Given the description of an element on the screen output the (x, y) to click on. 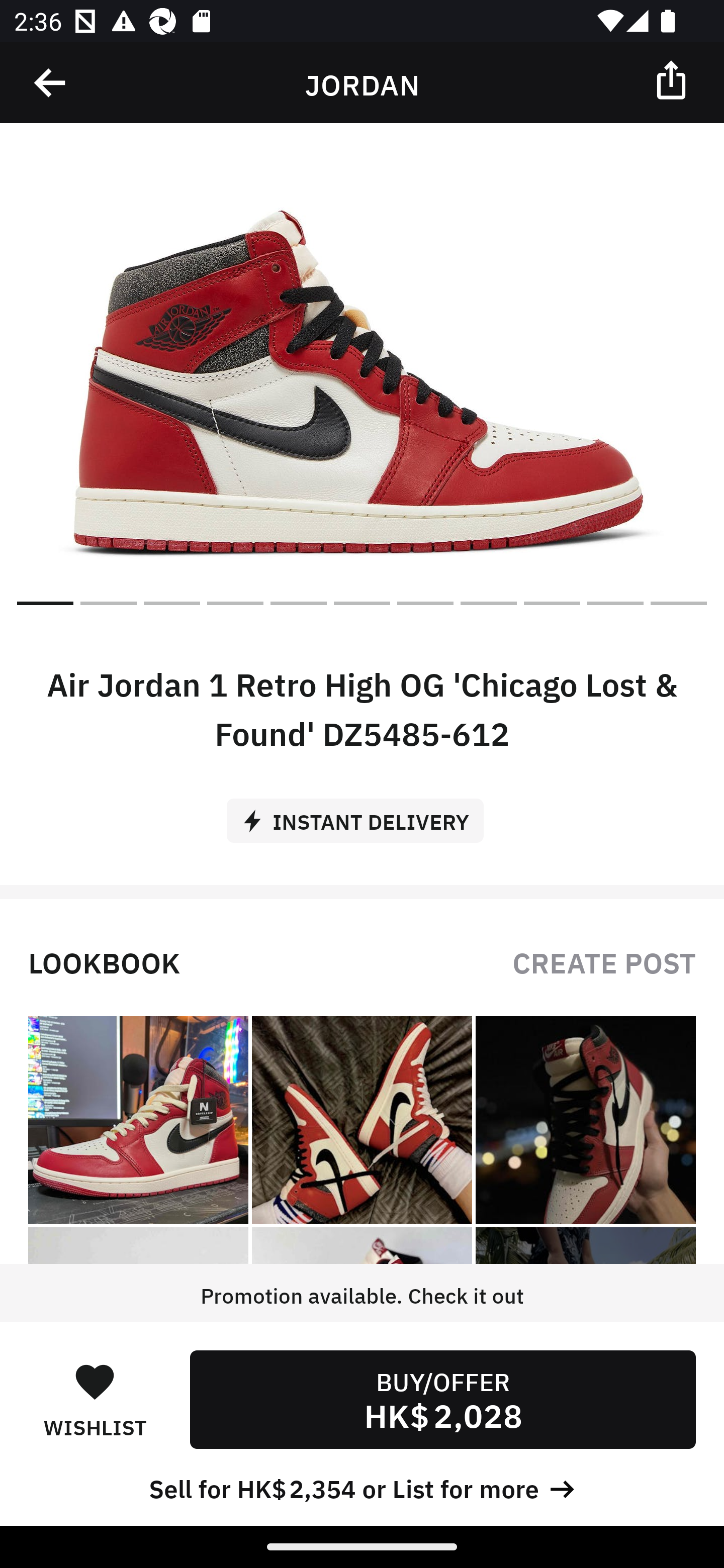
 (50, 83)
 (672, 79)
 INSTANT DELIVERY (362, 813)
CREATE POST (603, 960)
BUY/OFFER HK$ 2,028 (442, 1399)
󰋑 (94, 1380)
Sell for HK$ 2,354 or List for more (361, 1486)
